Given the description of an element on the screen output the (x, y) to click on. 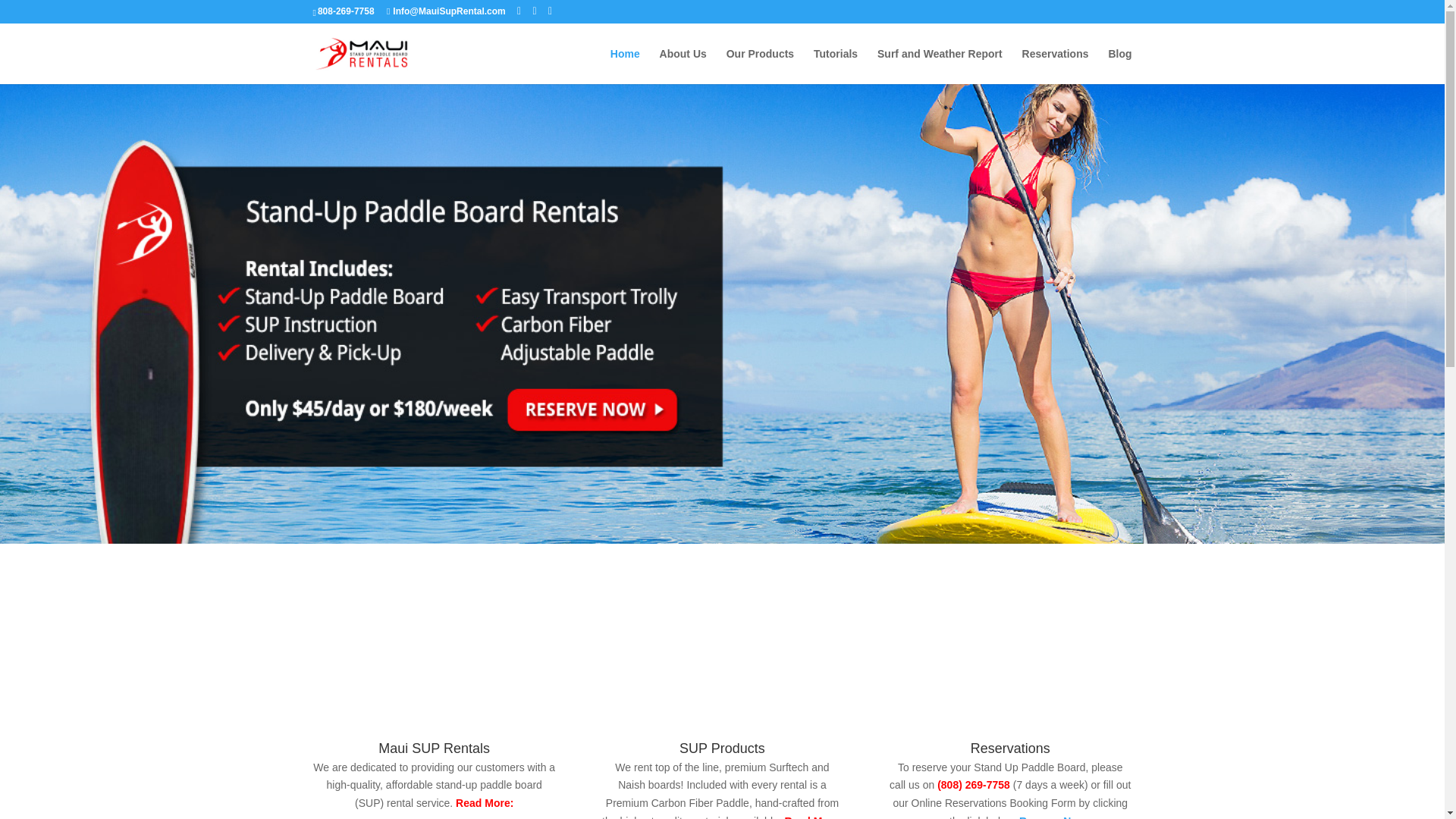
About Us (682, 66)
Surf and Weather Report (940, 66)
Tutorials (835, 66)
Reservations (1055, 66)
Read More: (482, 802)
Reservations (1055, 66)
Tutorials (835, 66)
Maui SUP Rentals (433, 747)
Read More (812, 816)
Our Products (759, 66)
